Given the description of an element on the screen output the (x, y) to click on. 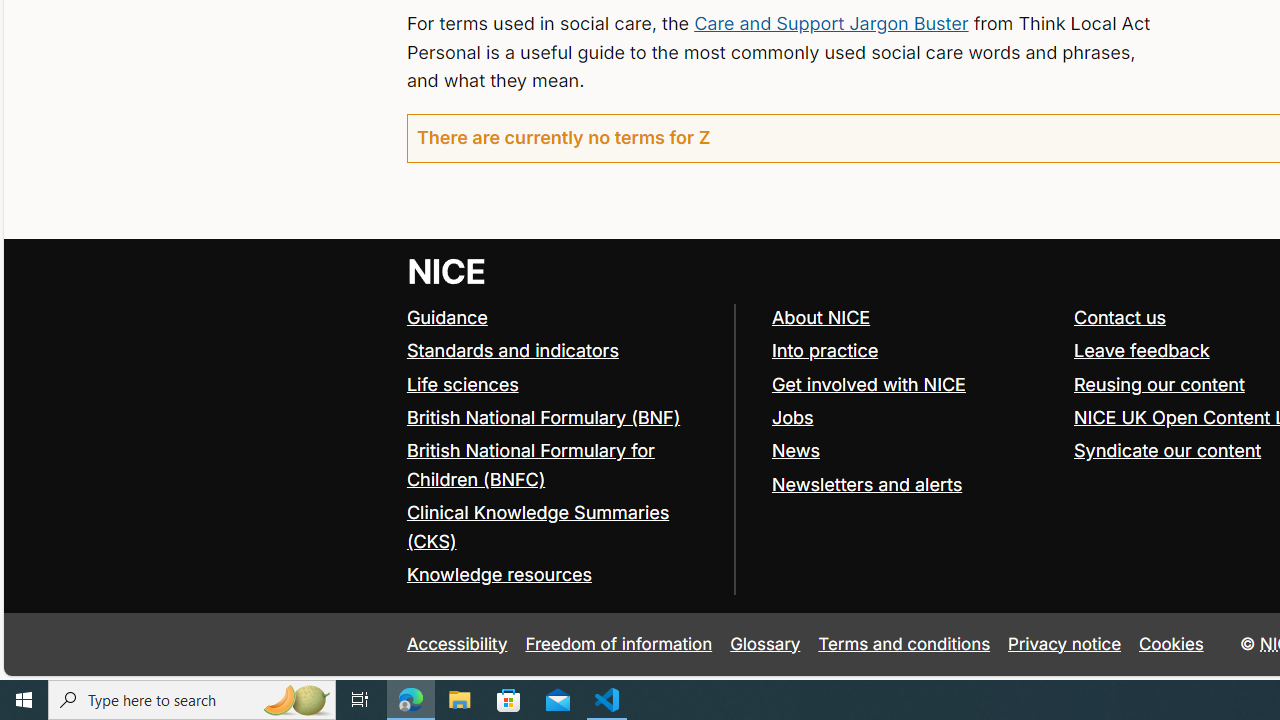
Terms and conditions (903, 644)
Newsletters and alerts (866, 484)
Freedom of information (618, 644)
Cookies (1171, 644)
Glossary (765, 644)
Knowledge resources (560, 575)
Get involved with NICE (868, 383)
Newsletters and alerts (913, 484)
Jobs (913, 417)
